Given the description of an element on the screen output the (x, y) to click on. 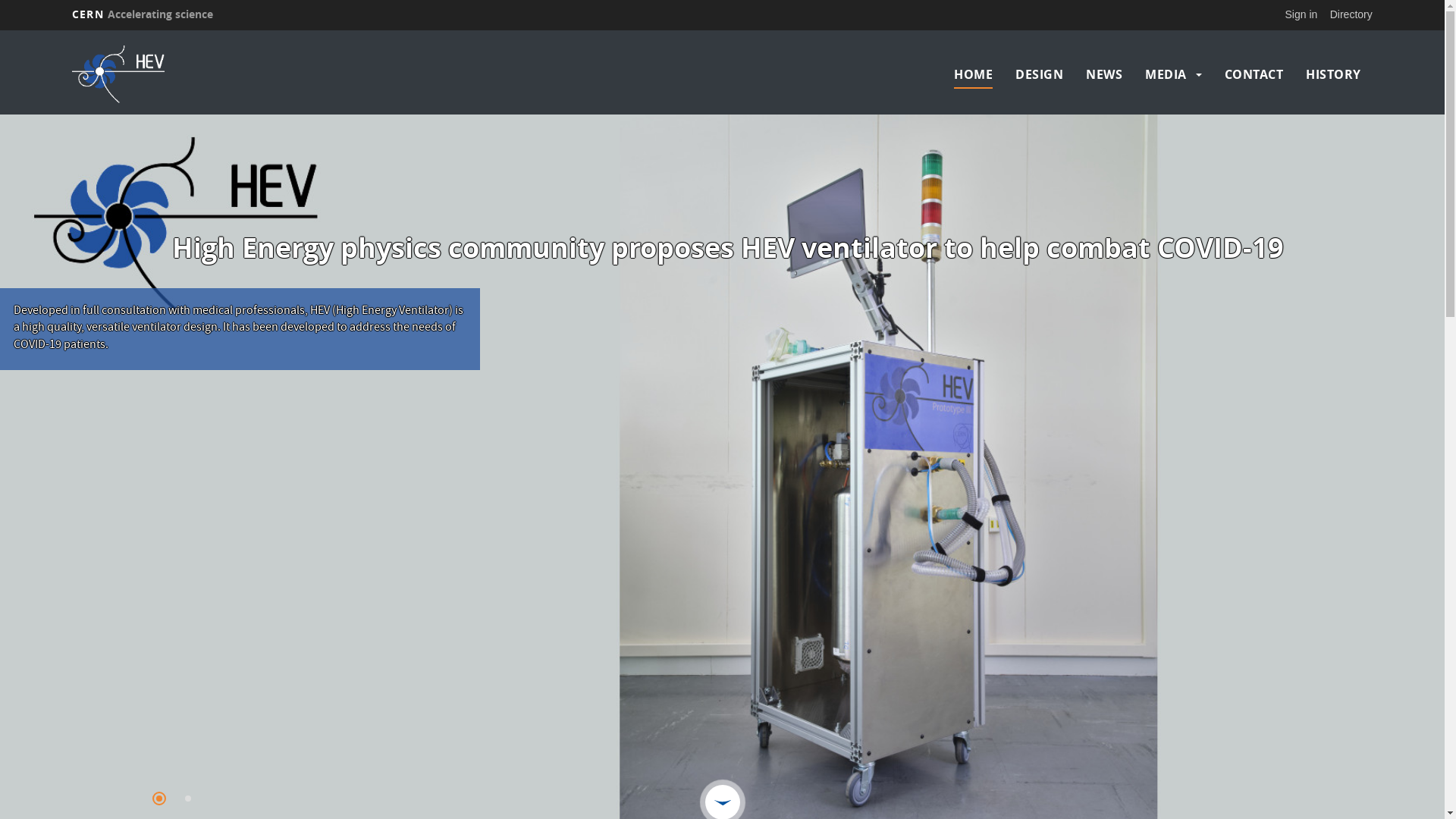
CONTACT Element type: text (1253, 74)
Sign in Element type: text (1301, 14)
CERN Accelerating science Element type: text (142, 14)
HOME Element type: text (972, 74)
MEDIA Element type: text (1165, 74)
HISTORY Element type: text (1333, 74)
NEWS Element type: text (1103, 74)
Directory Element type: text (1351, 14)
DESIGN Element type: text (1039, 74)
Home Element type: hover (230, 74)
Skip to main content Element type: text (0, 30)
